Given the description of an element on the screen output the (x, y) to click on. 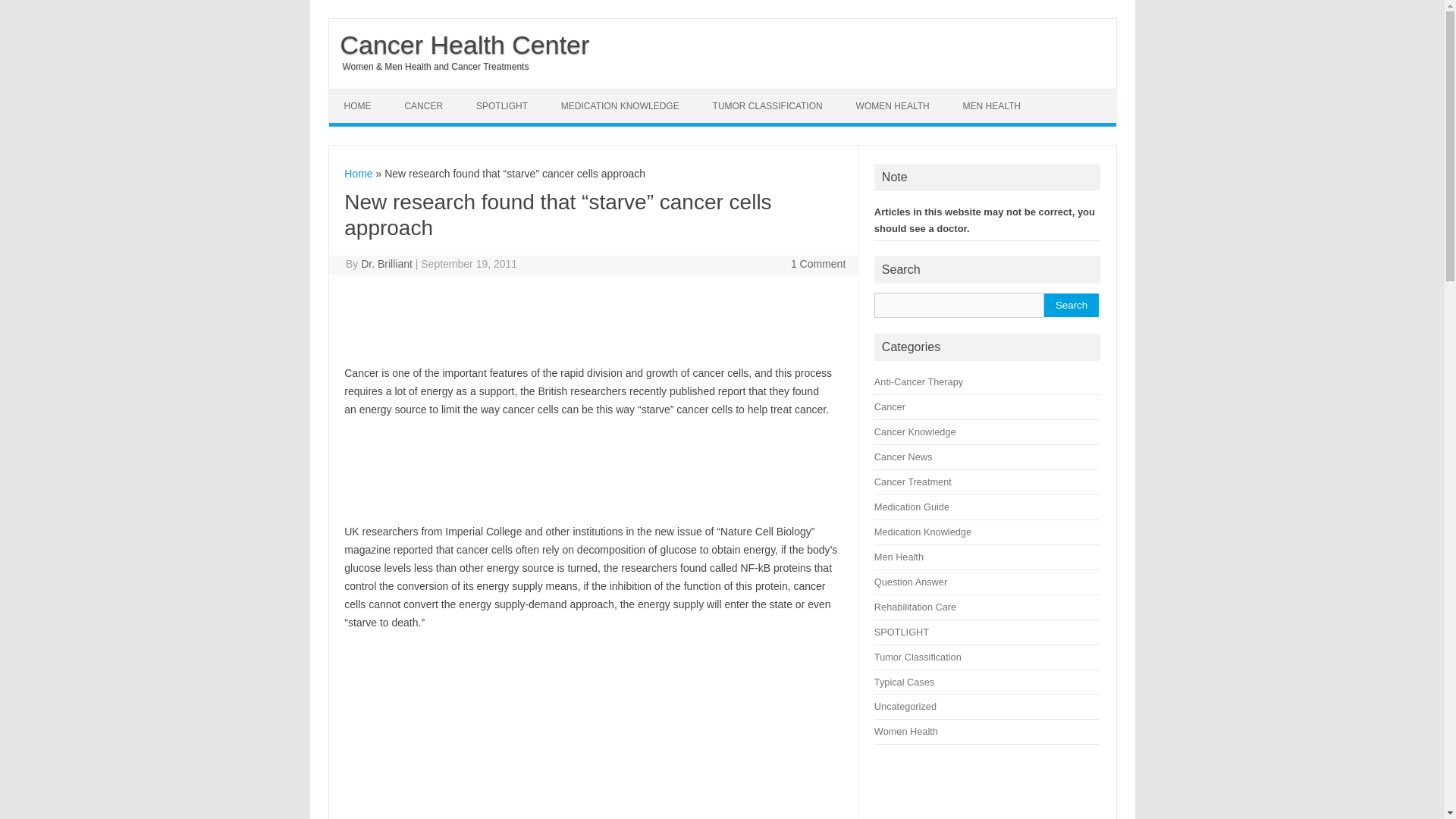
TUMOR CLASSIFICATION (767, 105)
Medication Guide (912, 506)
Dr. Brilliant (386, 263)
Cancer Health Center (459, 44)
HOME (358, 105)
MEDICATION KNOWLEDGE (620, 105)
Tumor Classification (917, 656)
Cancer Knowledge (915, 431)
Home (357, 173)
CANCER (423, 105)
Cancer Treatment (913, 481)
Anti-Cancer Therapy (918, 381)
Women Health (906, 731)
WOMEN HEALTH (892, 105)
Cancer (890, 406)
